Given the description of an element on the screen output the (x, y) to click on. 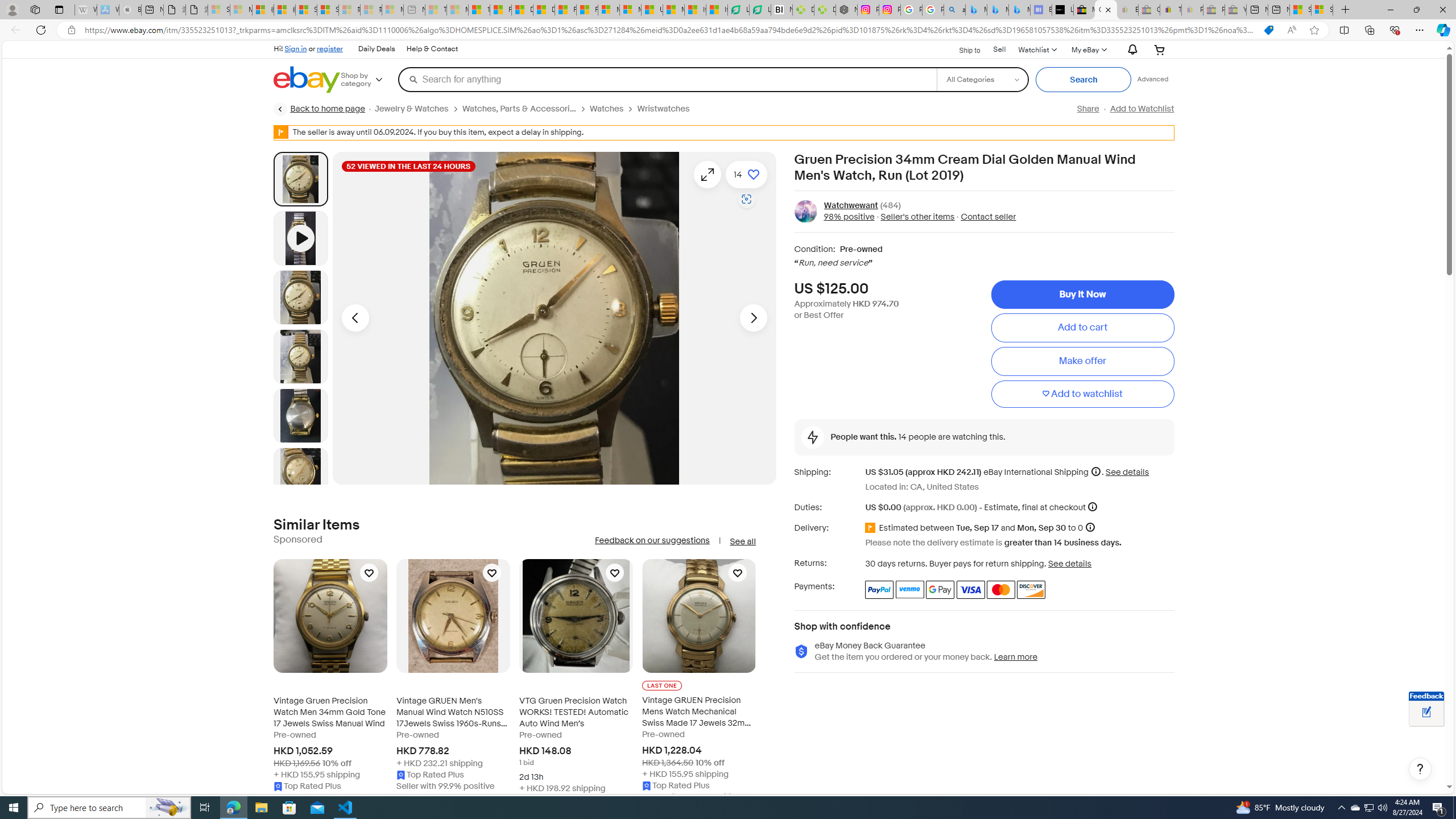
Picture 1 of 13 (300, 178)
Contact seller (988, 216)
Picture 2 of 13 (300, 297)
Buy It Now (1082, 294)
PayPal (878, 588)
